Given the description of an element on the screen output the (x, y) to click on. 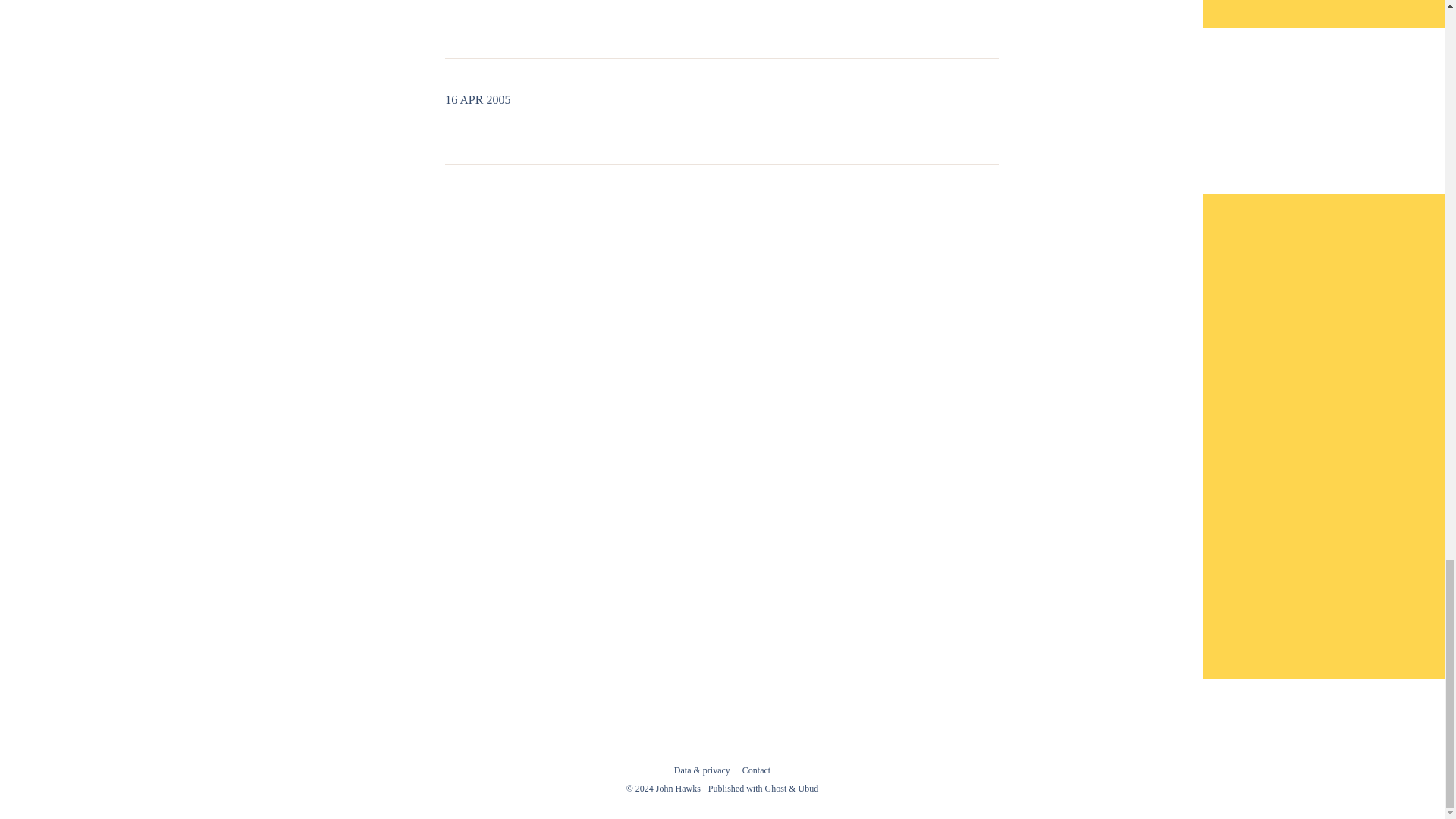
Ghost (776, 787)
Contact (756, 770)
Ubud (807, 787)
